Given the description of an element on the screen output the (x, y) to click on. 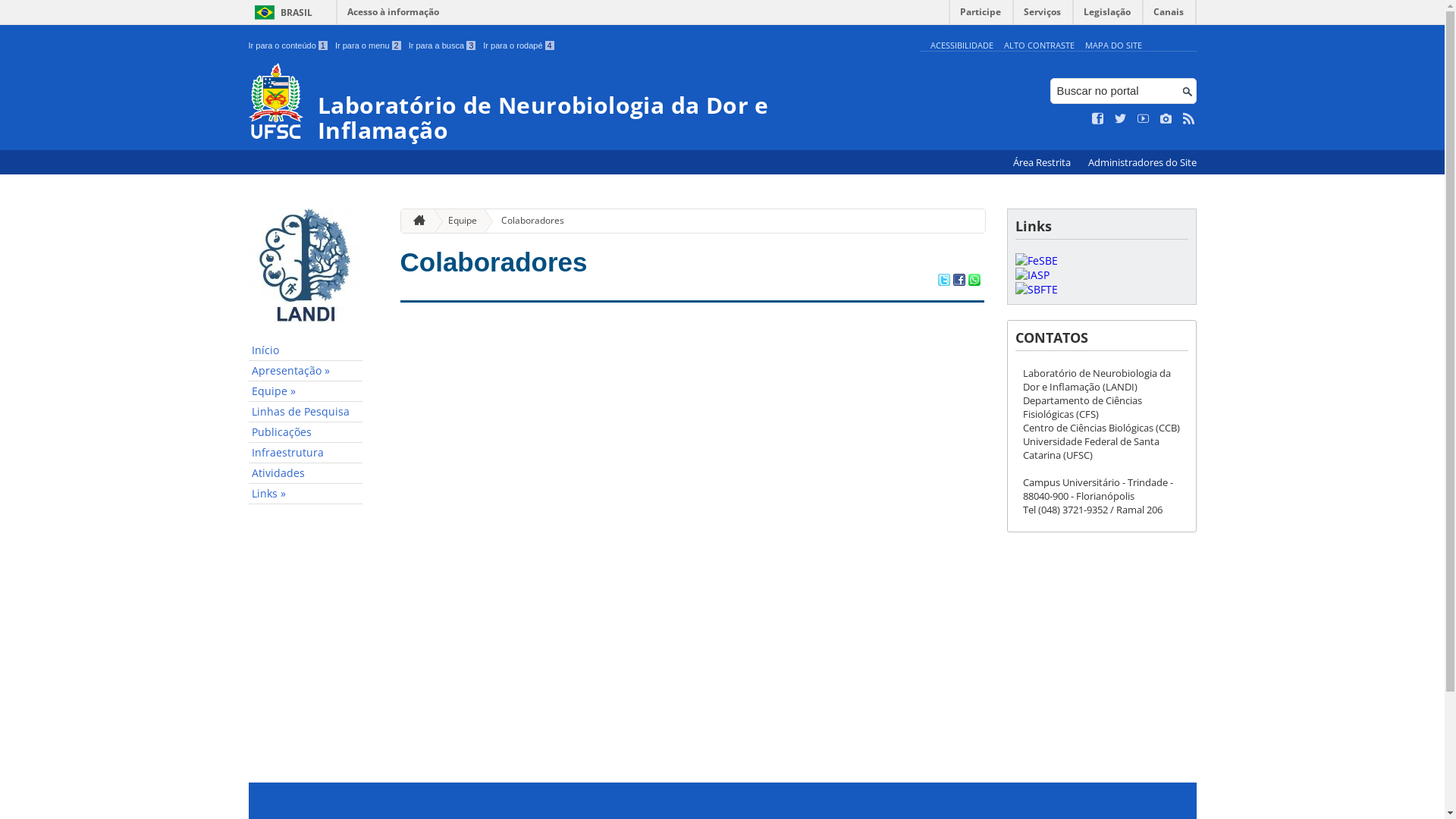
Canais Element type: text (1169, 15)
Atividades Element type: text (305, 473)
MAPA DO SITE Element type: text (1112, 44)
Equipe Element type: text (456, 220)
Compartilhar no Twitter Element type: hover (943, 280)
Siga no Twitter Element type: hover (1120, 118)
Administradores do Site Element type: text (1141, 162)
Colaboradores Element type: text (493, 261)
ACESSIBILIDADE Element type: text (960, 44)
Compartilhar no WhatsApp Element type: hover (973, 280)
Curta no Facebook Element type: hover (1098, 118)
Ir para o menu 2 Element type: text (368, 45)
Infraestrutura Element type: text (305, 452)
Participe Element type: text (980, 15)
Colaboradores Element type: text (526, 220)
Compartilhar no Facebook Element type: hover (958, 280)
Veja no Instagram Element type: hover (1166, 118)
BRASIL Element type: text (280, 12)
ALTO CONTRASTE Element type: text (1039, 44)
Linhas de Pesquisa Element type: text (305, 411)
Ir para a busca 3 Element type: text (442, 45)
